Given the description of an element on the screen output the (x, y) to click on. 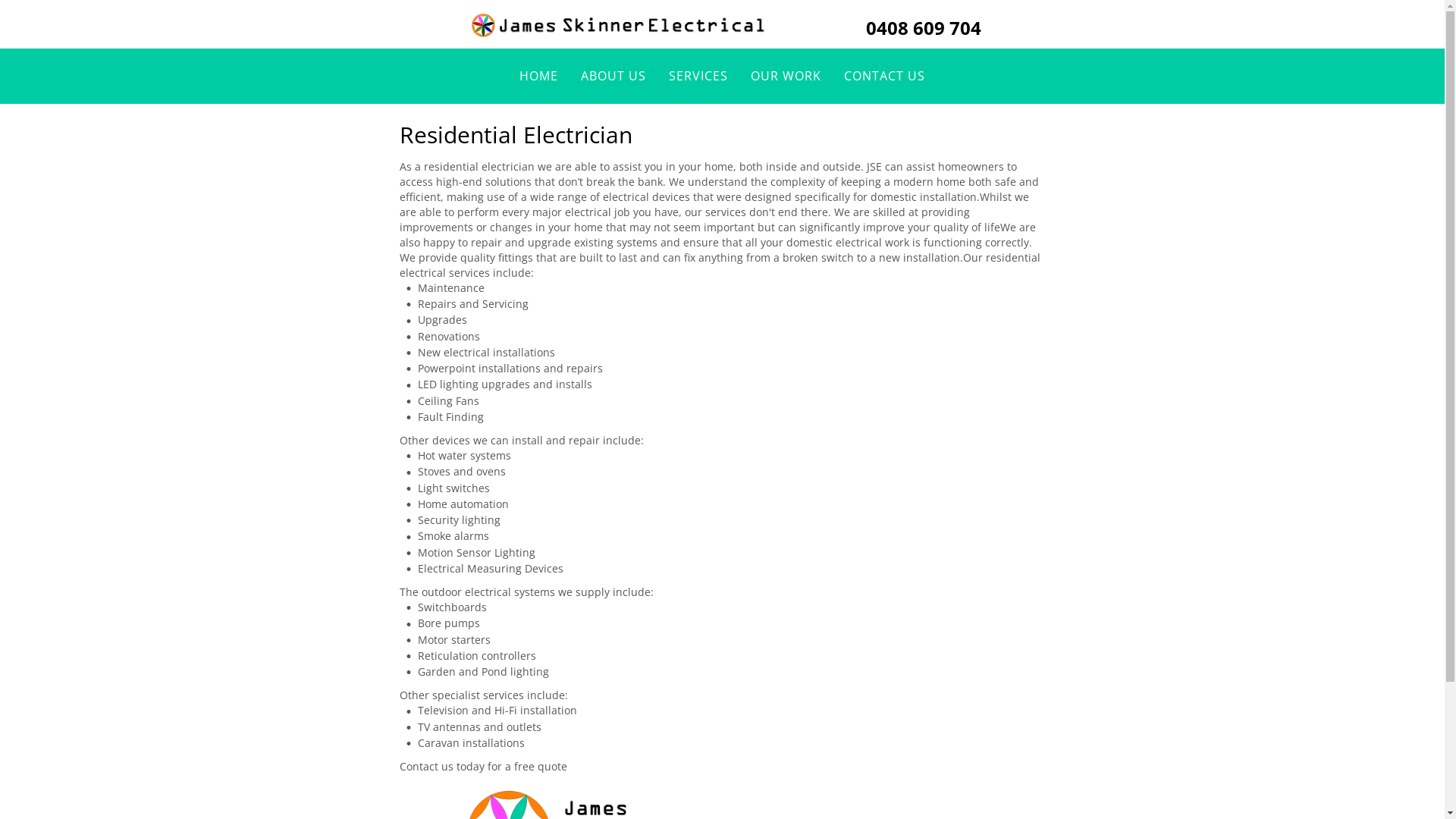
ABOUT US Element type: text (613, 75)
SERVICES Element type: text (698, 75)
CONTACT US Element type: text (884, 75)
HOME Element type: text (538, 75)
OUR WORK Element type: text (785, 75)
0408 609 704 Element type: text (923, 27)
